Given the description of an element on the screen output the (x, y) to click on. 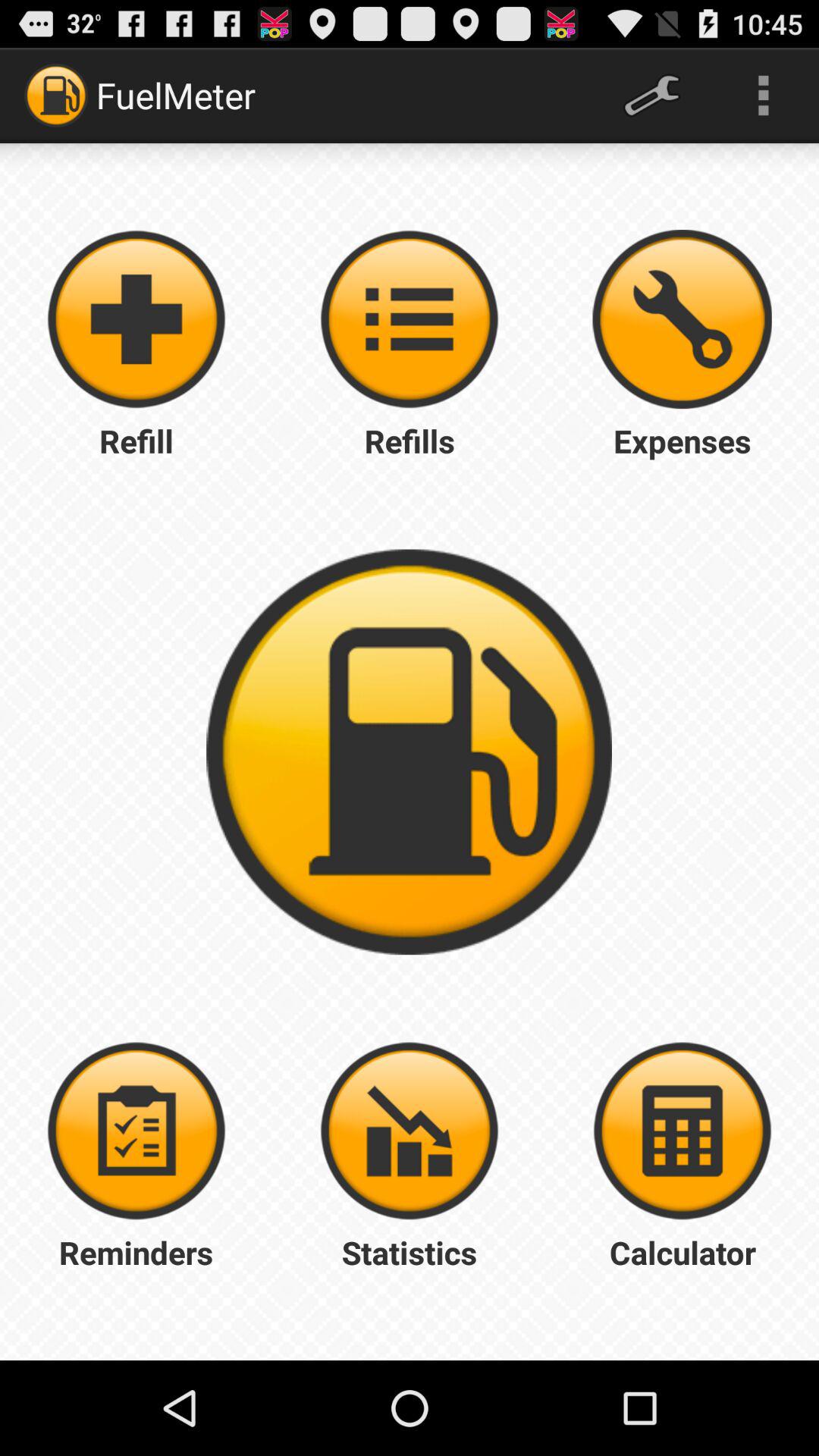
add something again (409, 318)
